Given the description of an element on the screen output the (x, y) to click on. 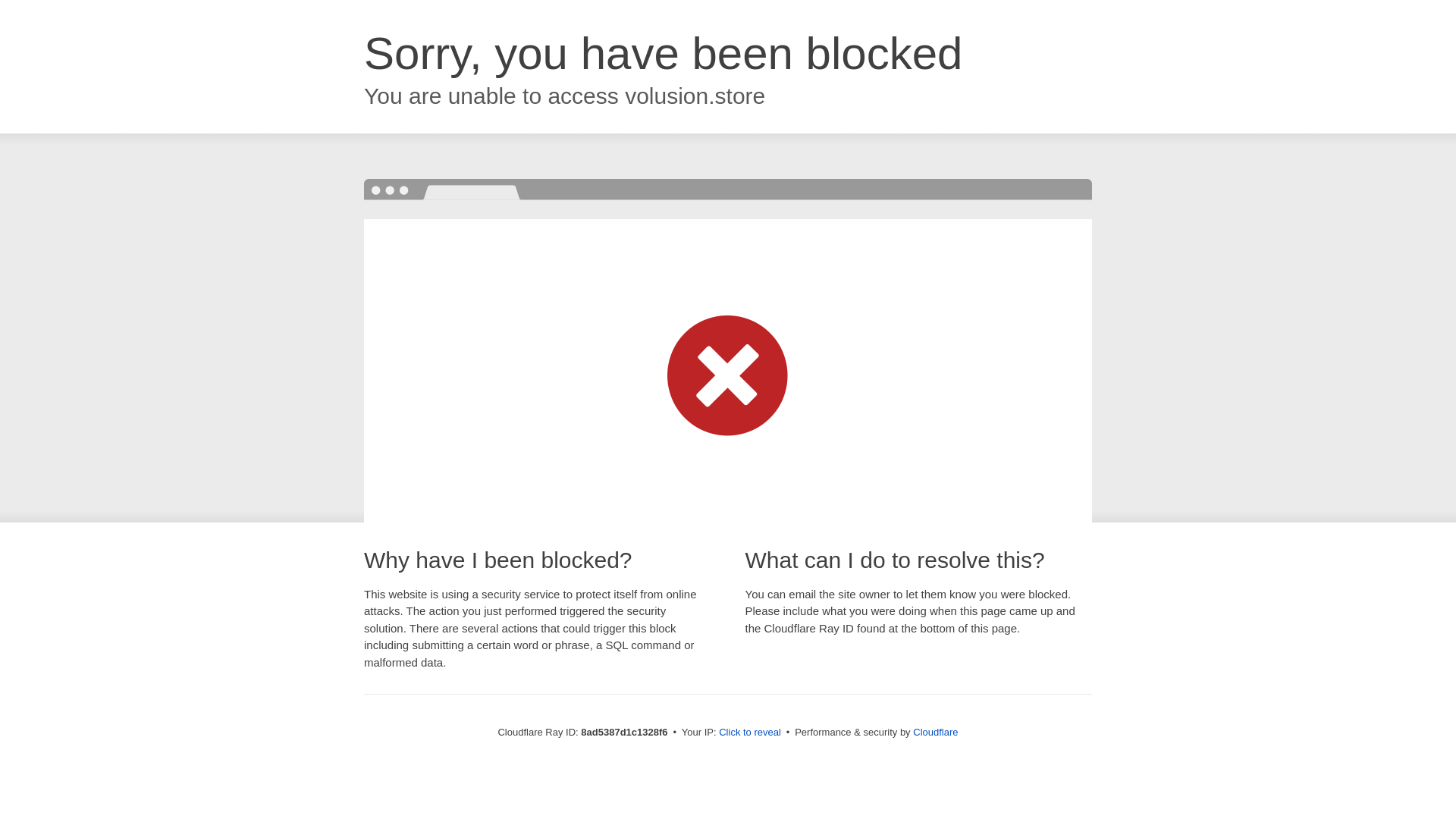
Cloudflare (935, 731)
Click to reveal (749, 732)
